Given the description of an element on the screen output the (x, y) to click on. 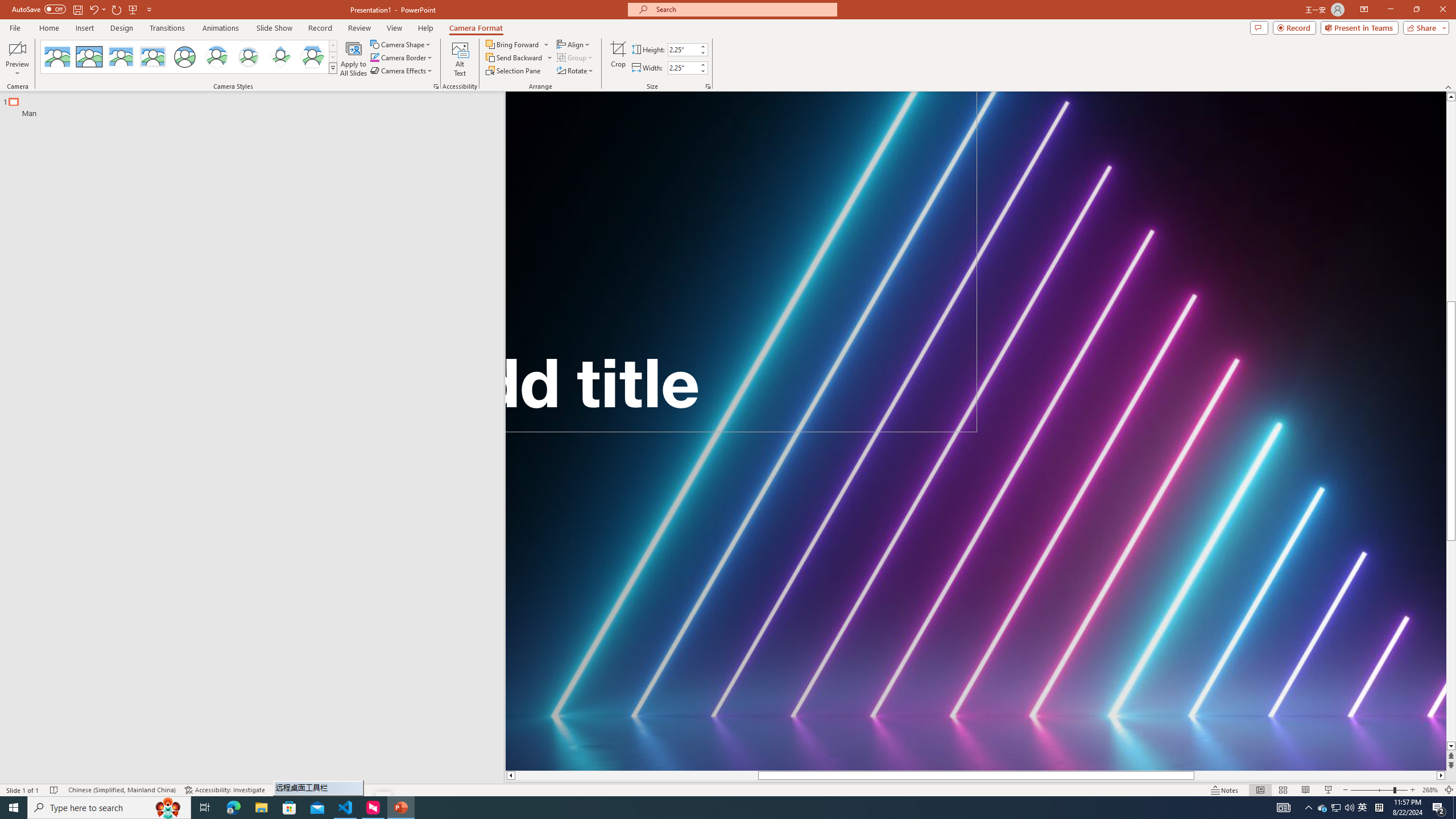
Selection Pane... (513, 69)
Camera Effects (402, 69)
Cameo Height (682, 49)
Send Backward (514, 56)
